Given the description of an element on the screen output the (x, y) to click on. 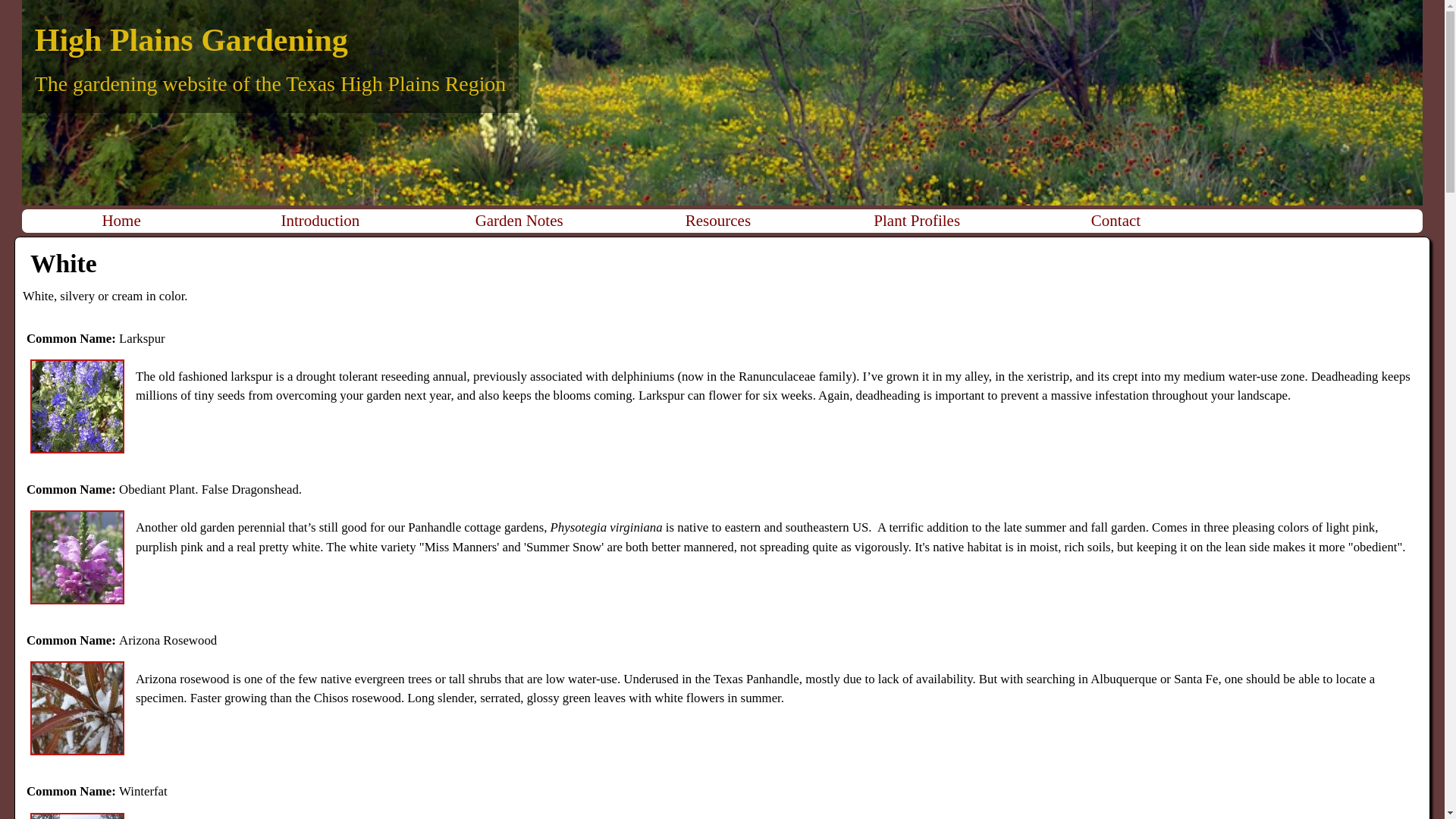
Resources (717, 221)
Plant Profiles (916, 221)
Introduction (320, 221)
Garden Notes (519, 221)
Home (121, 221)
Contact (1115, 221)
